Given the description of an element on the screen output the (x, y) to click on. 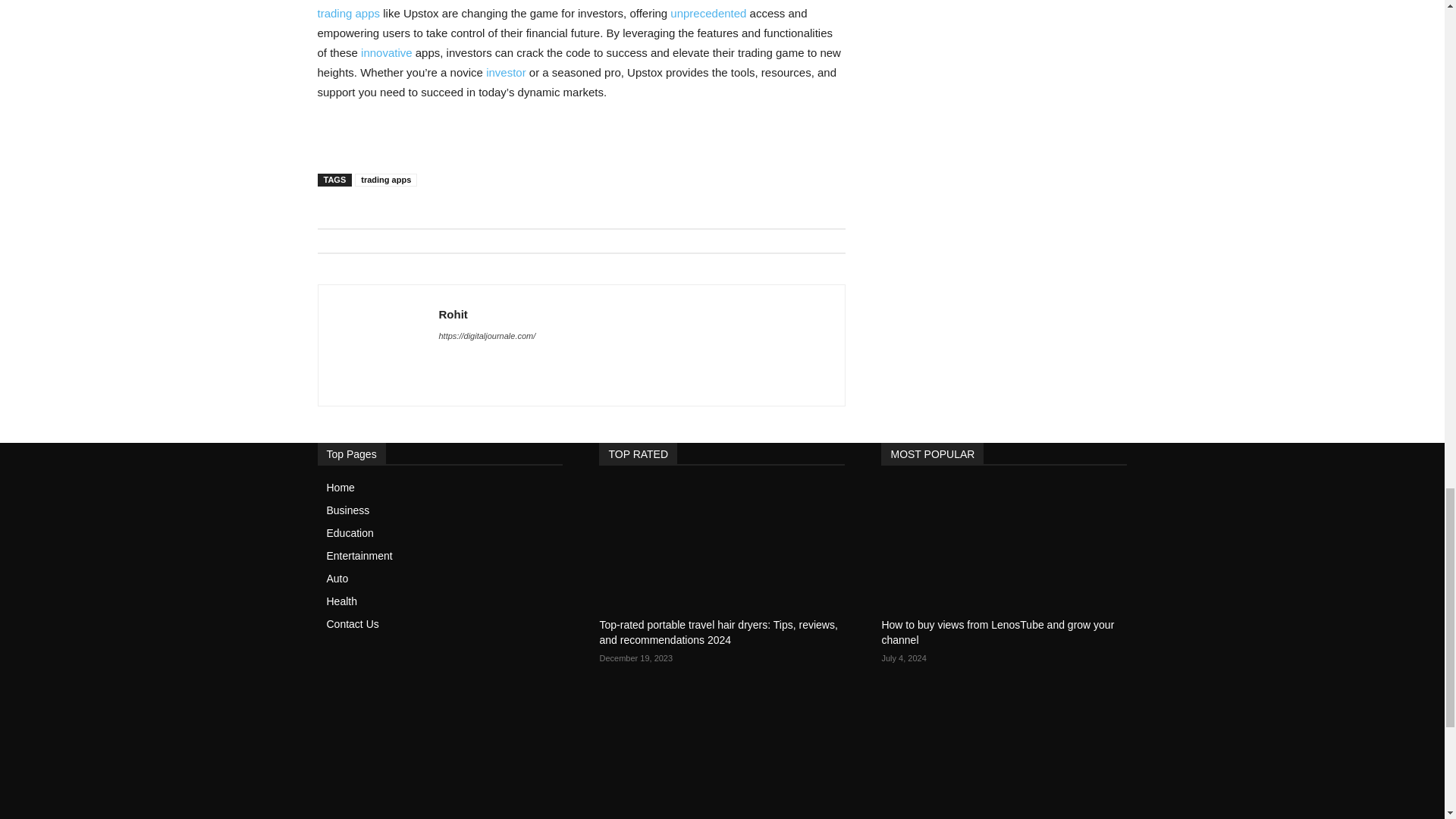
trading apps (348, 12)
innovative (386, 51)
Rohit (486, 314)
Rohit (377, 345)
unprecedented (707, 12)
investor (505, 72)
trading apps (385, 179)
